Given the description of an element on the screen output the (x, y) to click on. 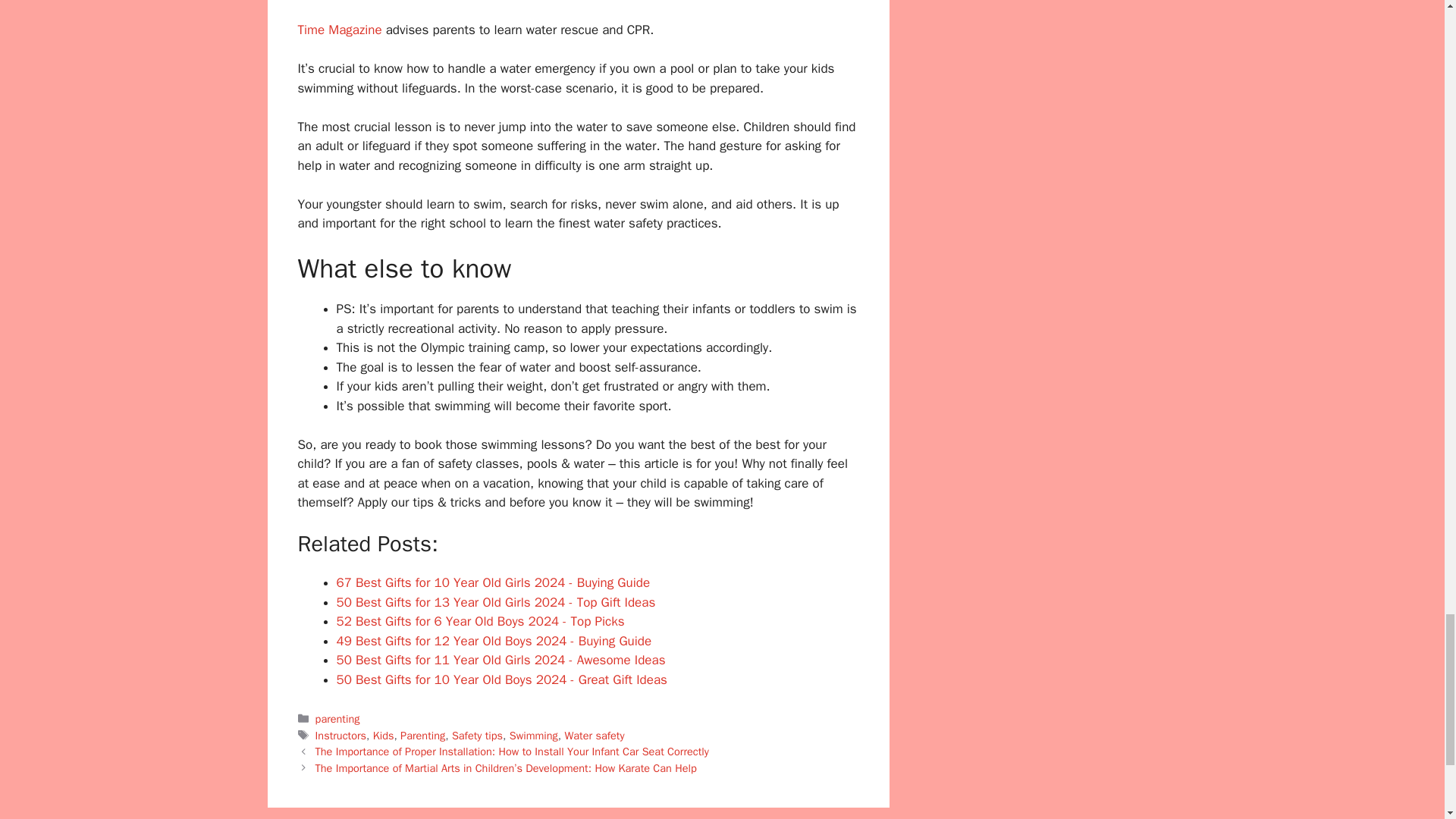
Parenting (422, 735)
Safety tips (476, 735)
50 Best Gifts for 13 Year Old Girls 2024 - Top Gift Ideas (496, 602)
67 Best Gifts for 10 Year Old Girls 2024 - Buying Guide (493, 582)
Kids (383, 735)
49 Best Gifts for 12 Year Old Boys 2024 - Buying Guide (494, 641)
Time Magazine (339, 29)
Water safety (594, 735)
Swimming (533, 735)
